Given the description of an element on the screen output the (x, y) to click on. 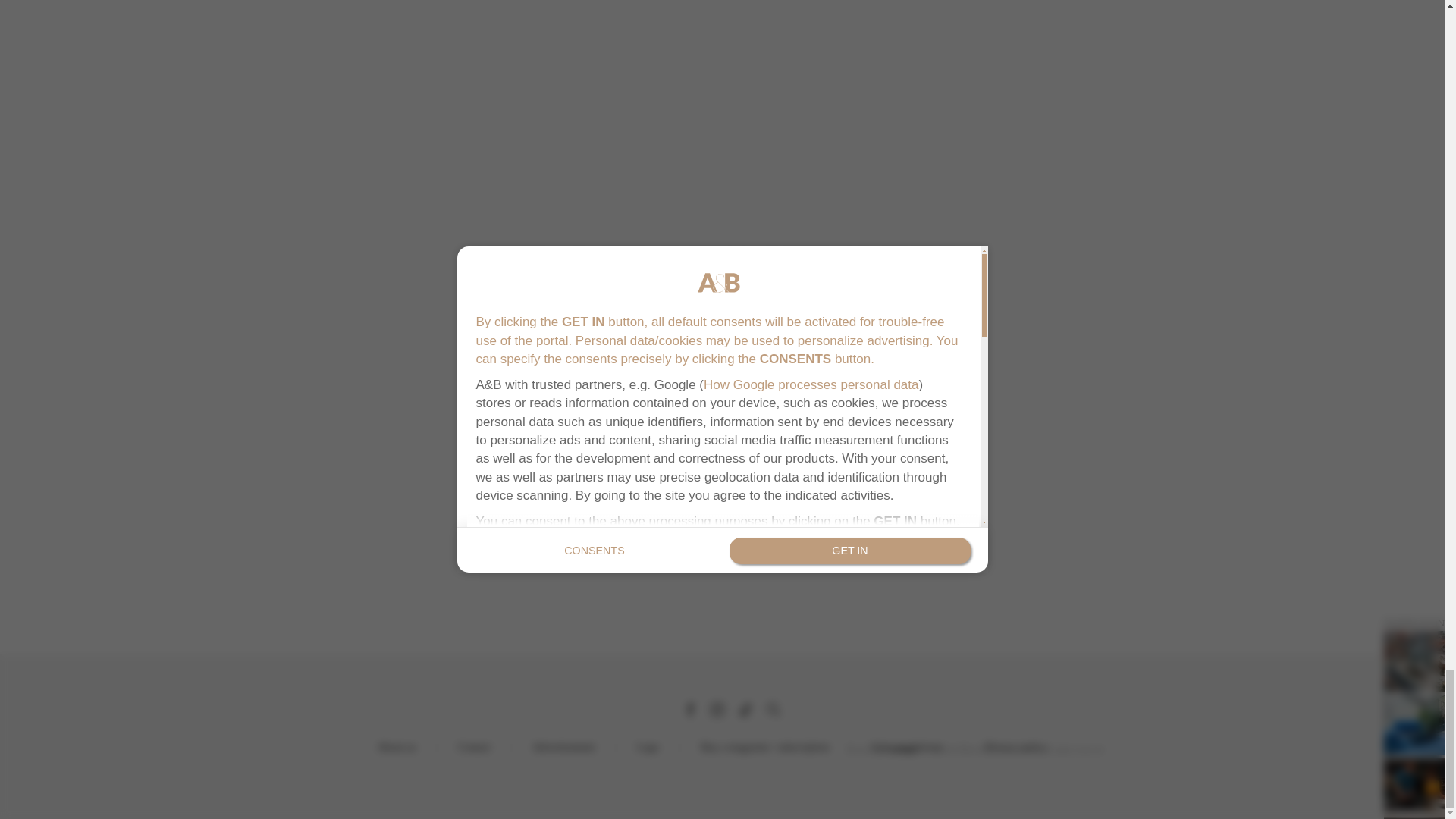
instagram (717, 709)
wyszukiwarka (772, 709)
facebook (689, 709)
TikTok (745, 709)
